Given the description of an element on the screen output the (x, y) to click on. 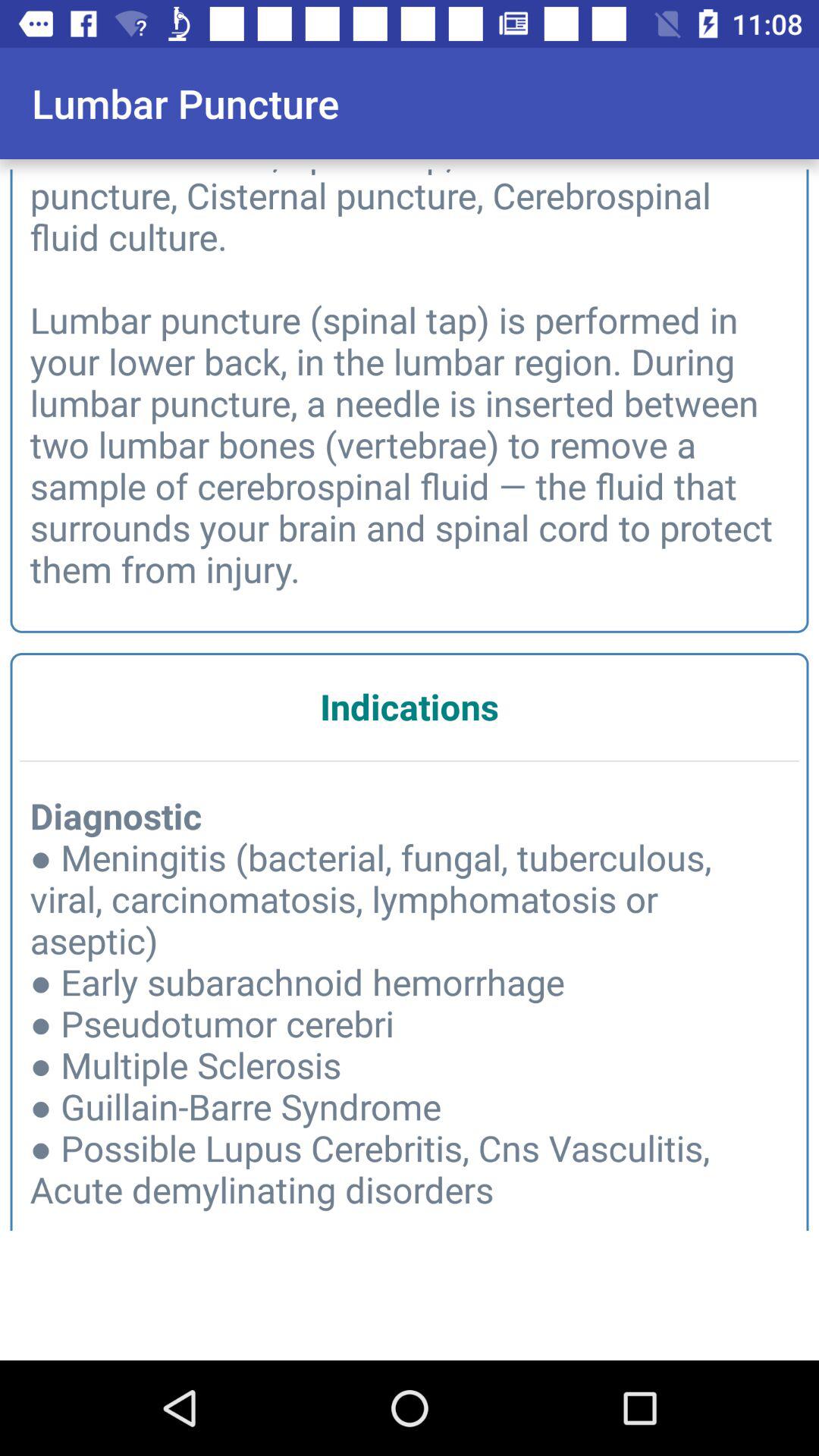
launch icon below other names spinal item (409, 706)
